Given the description of an element on the screen output the (x, y) to click on. 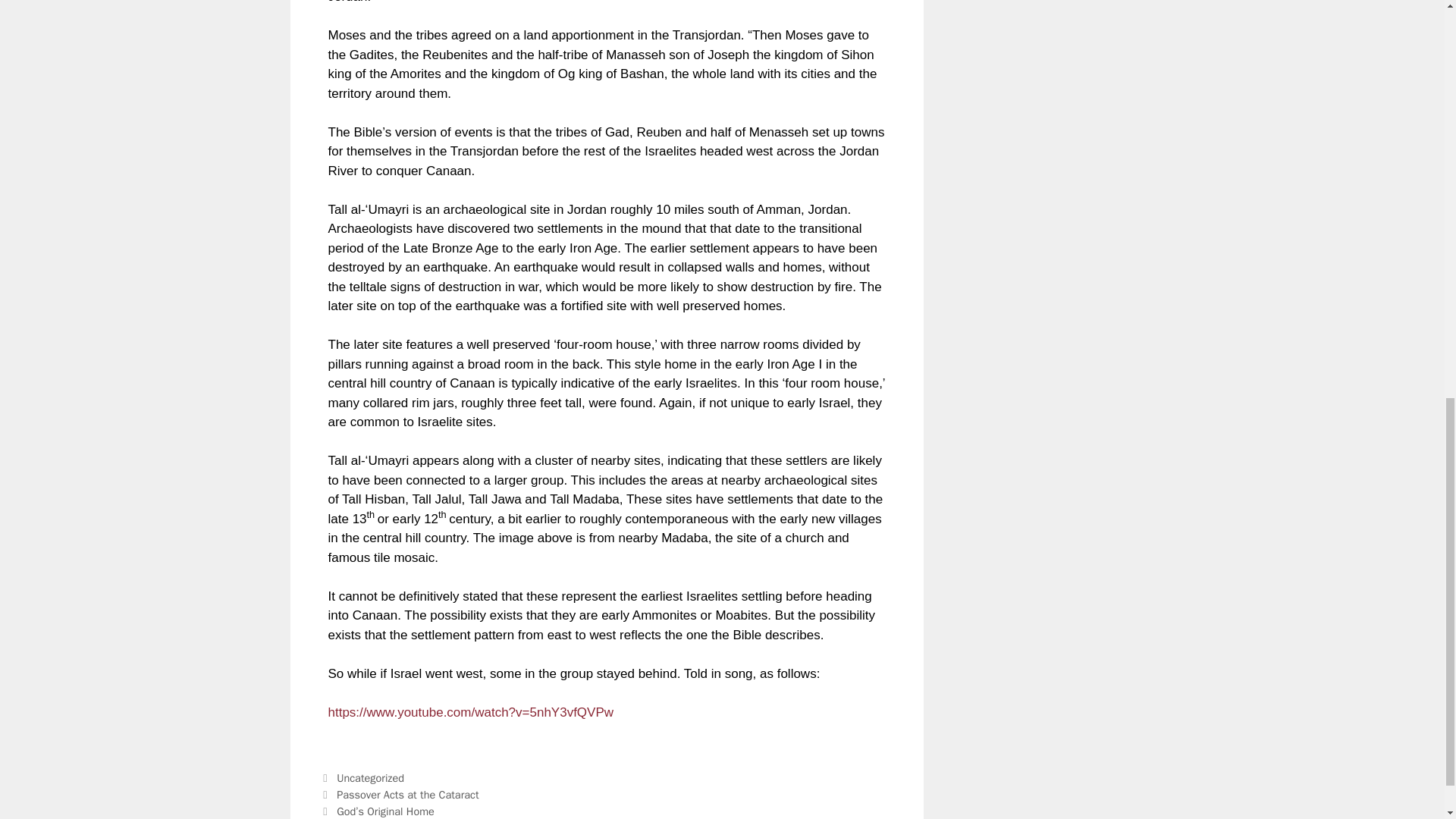
Passover Acts at the Cataract (407, 794)
Previous (399, 794)
Next (376, 811)
Uncategorized (370, 777)
